Given the description of an element on the screen output the (x, y) to click on. 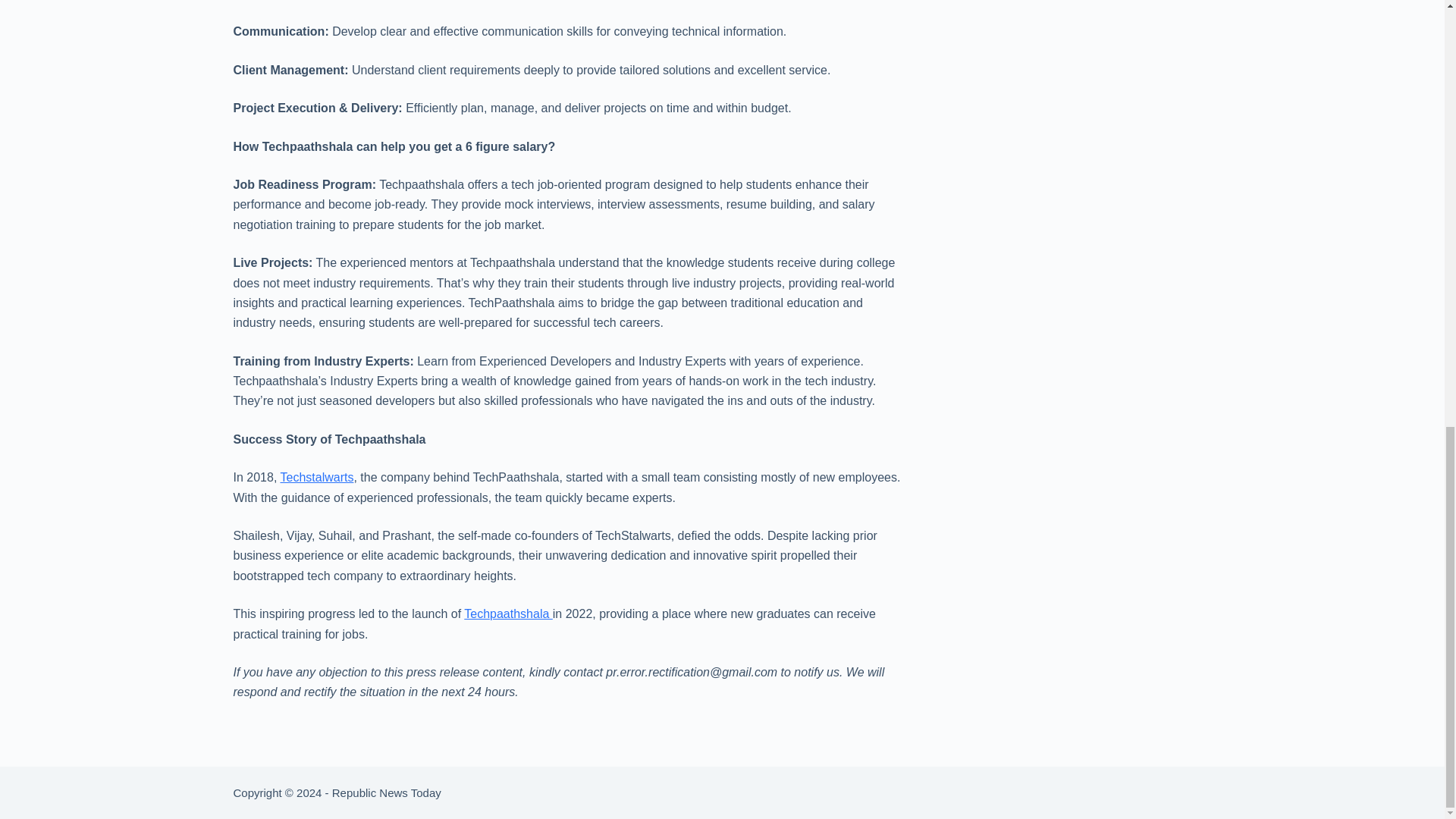
Techpaathshala  (508, 613)
Techstalwarts (316, 477)
